Given the description of an element on the screen output the (x, y) to click on. 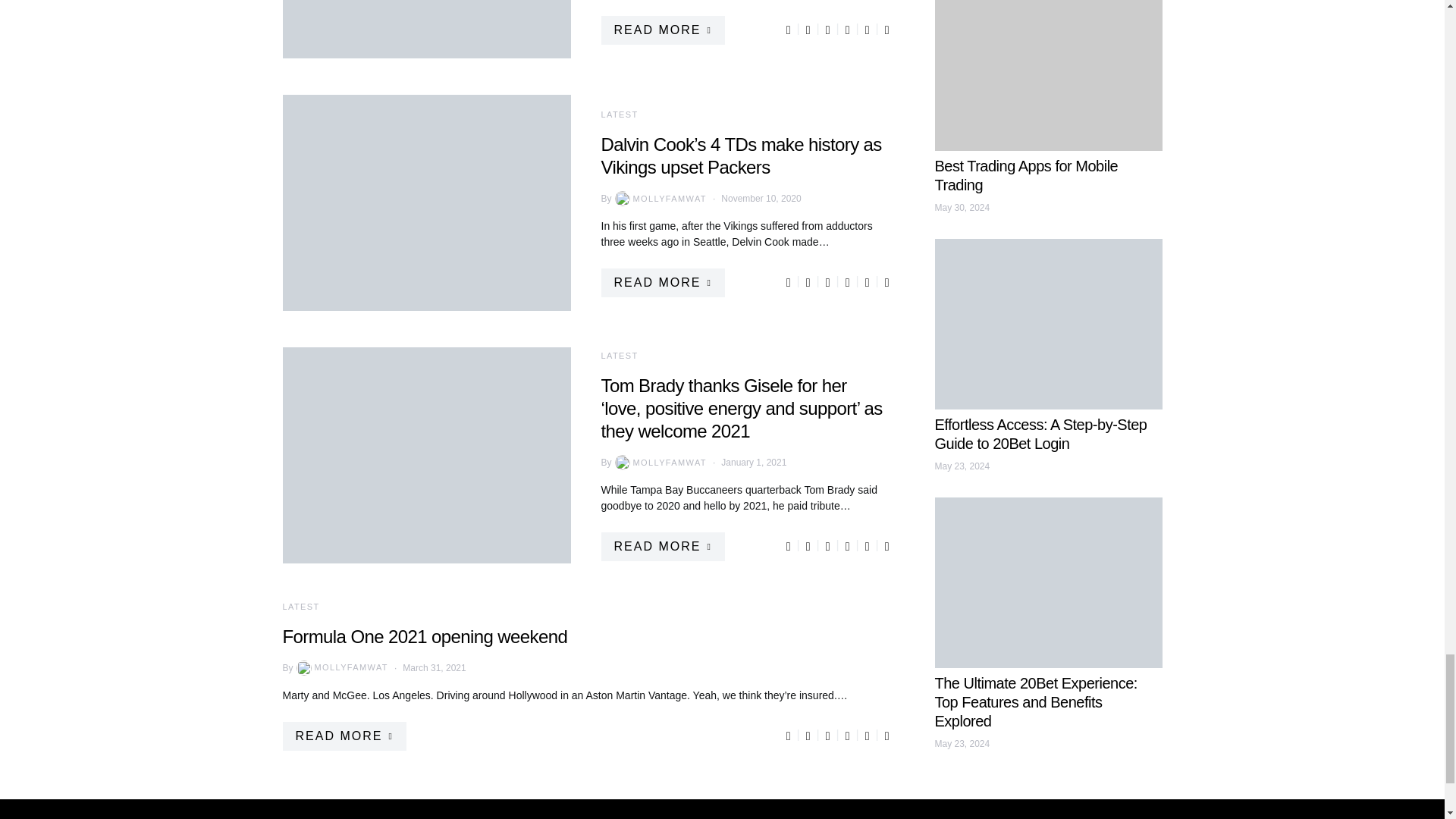
View all posts by mollyfamwat (341, 667)
View all posts by mollyfamwat (658, 198)
View all posts by mollyfamwat (658, 462)
